Given the description of an element on the screen output the (x, y) to click on. 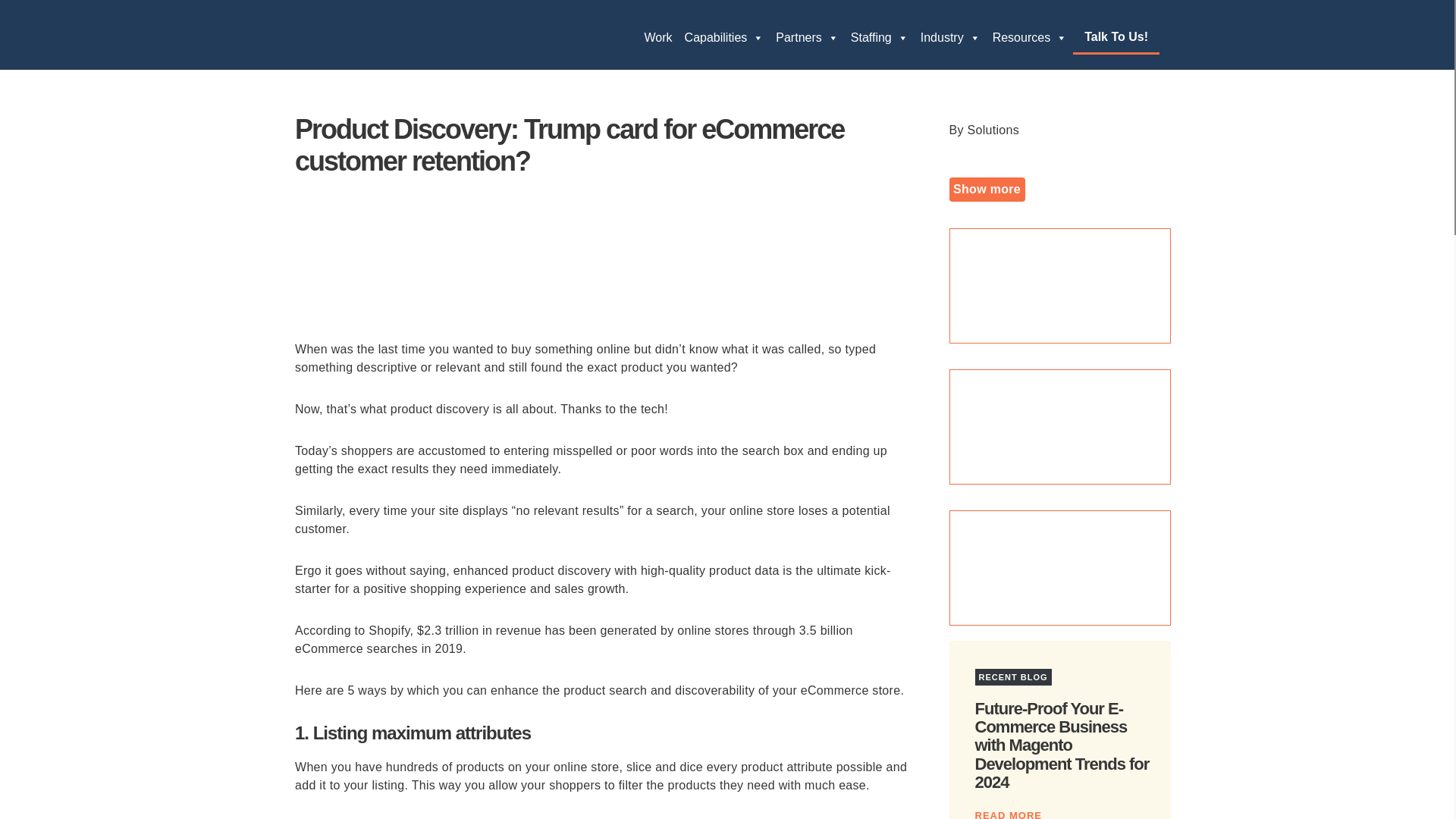
Capabilities (724, 37)
The Commerce Shop (386, 33)
Work (658, 37)
Partners (807, 37)
